Given the description of an element on the screen output the (x, y) to click on. 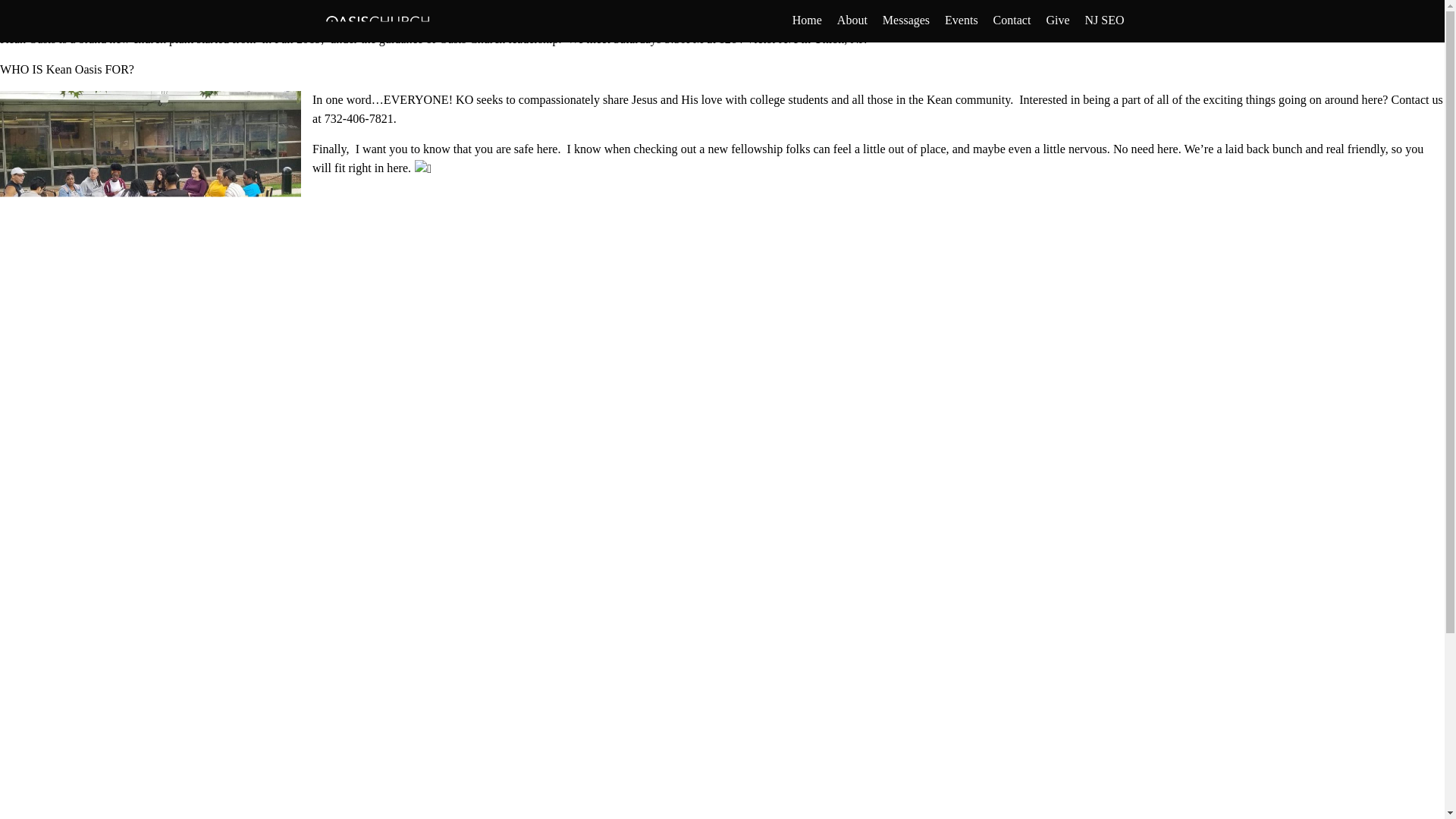
Kean Oasis Church (420, 21)
NJ SEO (1104, 20)
ROC (534, 8)
Home (807, 20)
Messages (906, 20)
Oasis Church (603, 8)
Give (1056, 20)
About (852, 20)
Events (961, 20)
Contact (1011, 20)
